Given the description of an element on the screen output the (x, y) to click on. 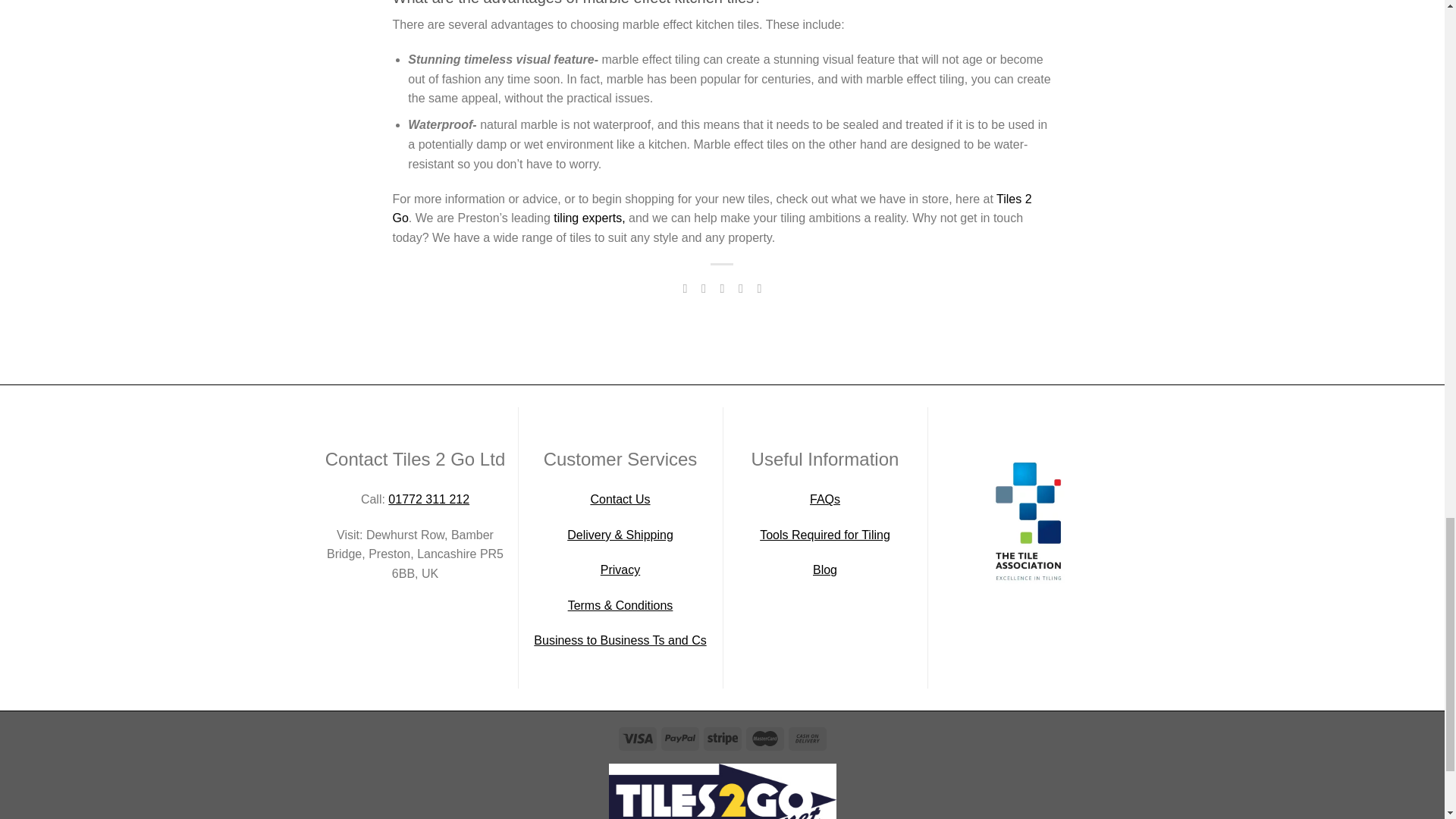
Tiles 2 Go (712, 208)
Business to Business Ts and Cs (620, 640)
tiling experts, (588, 217)
Privacy (619, 569)
Pin on Pinterest (740, 287)
Share on LinkedIn (758, 287)
Tools Required for Tiling (824, 534)
01772 311 212 (428, 499)
FAQs (824, 499)
Contact Us (619, 499)
Share on Twitter (703, 287)
Share on Facebook (684, 287)
Email to a Friend (722, 287)
